Given the description of an element on the screen output the (x, y) to click on. 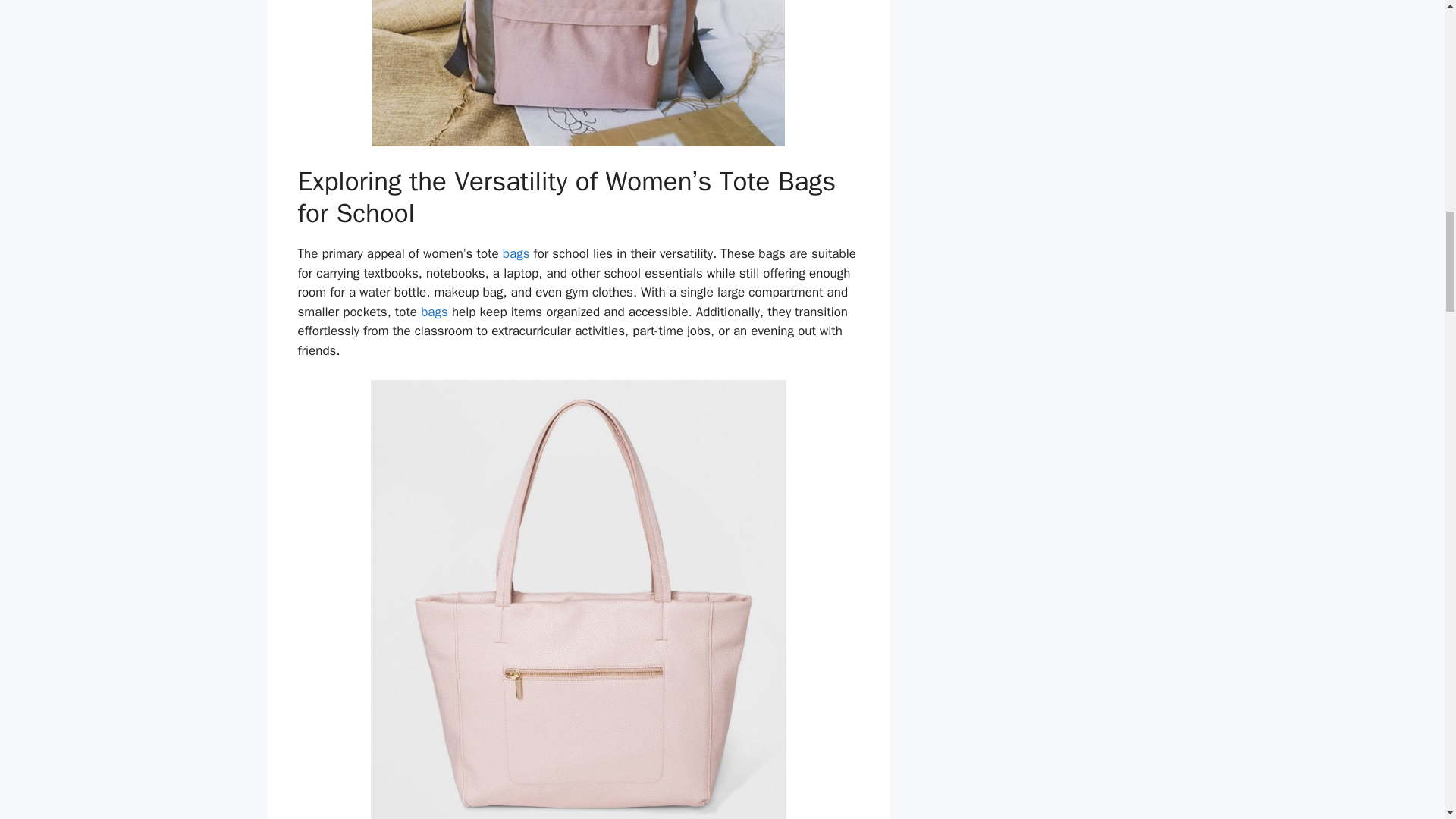
bags (515, 253)
bags (434, 311)
